Given the description of an element on the screen output the (x, y) to click on. 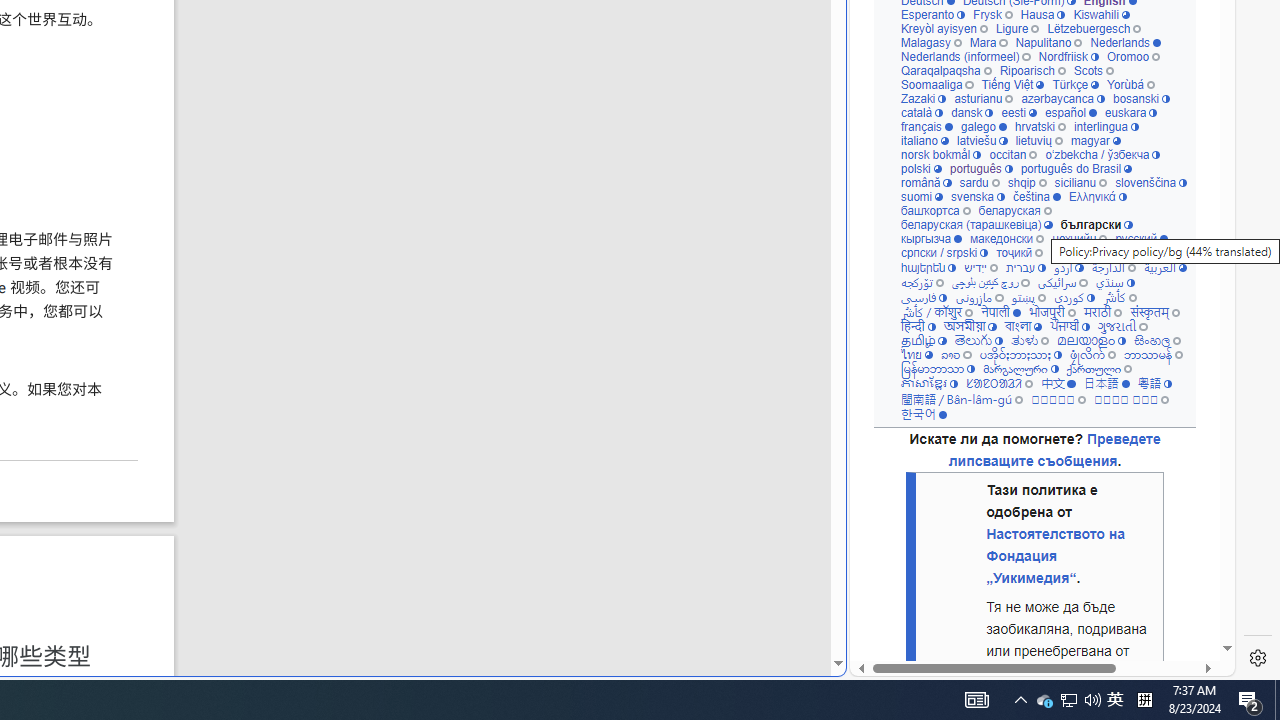
bosanski (1141, 97)
hrvatski (1040, 125)
sicilianu (1080, 182)
occitan (1013, 154)
